Given the description of an element on the screen output the (x, y) to click on. 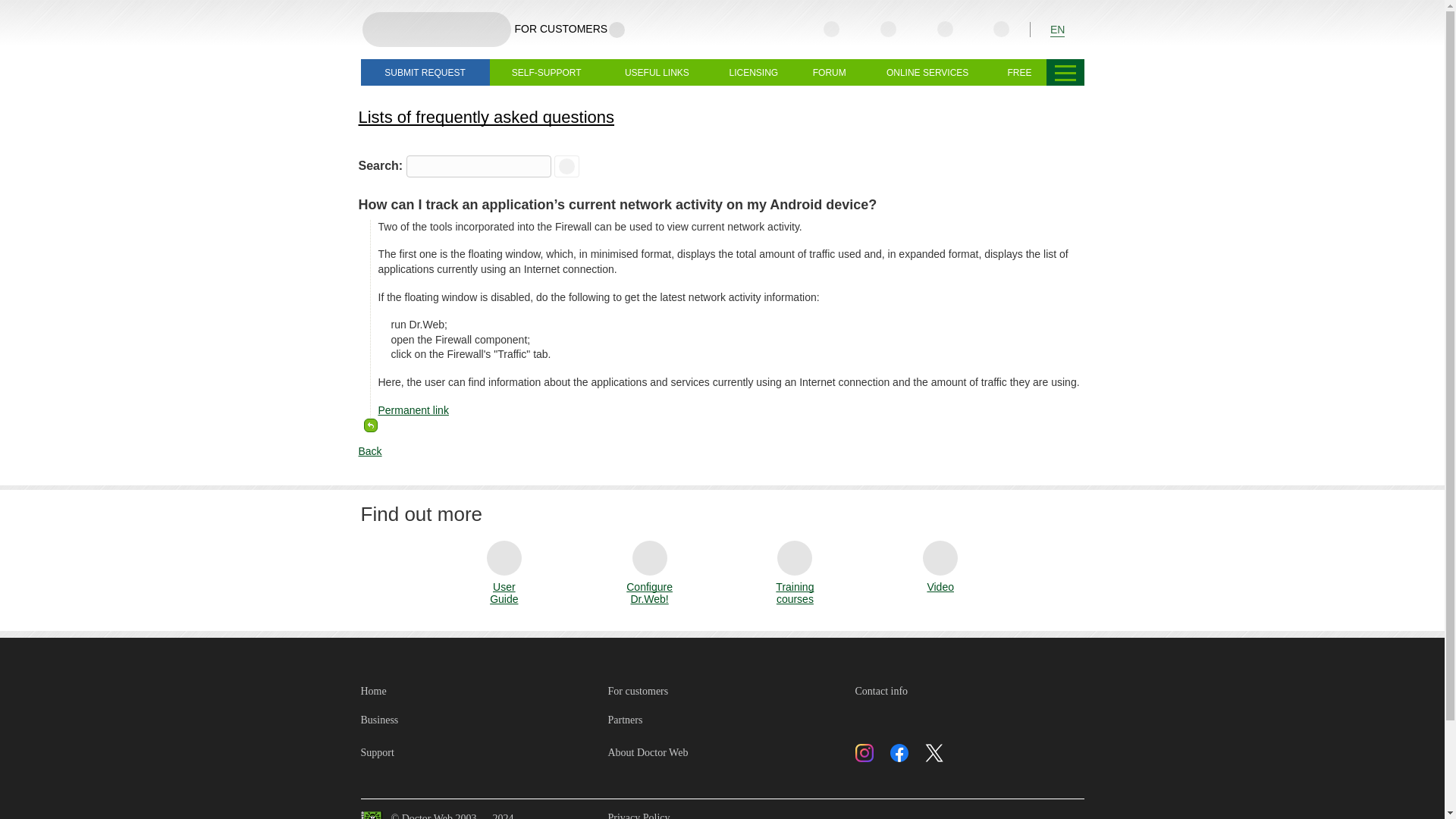
Other sections (1065, 71)
FOR CUSTOMERS (570, 28)
